Given the description of an element on the screen output the (x, y) to click on. 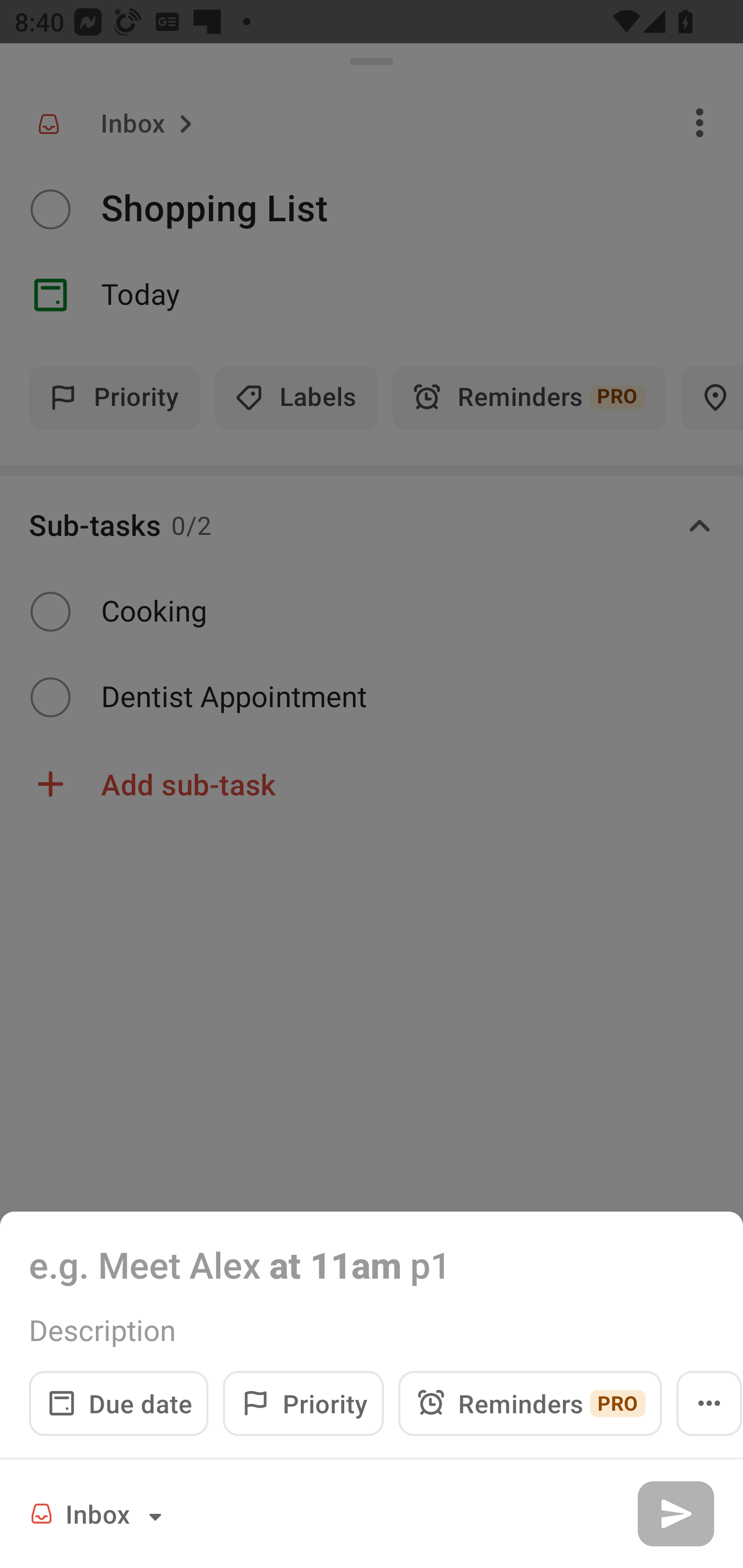
e.g. Meet Alex at 11am p1 (371, 1264)
Description (371, 1330)
Due date Date (118, 1403)
Priority (303, 1403)
Reminders PRO Reminders (530, 1403)
Open menu (709, 1403)
Inbox Project (99, 1513)
Add (675, 1513)
